Given the description of an element on the screen output the (x, y) to click on. 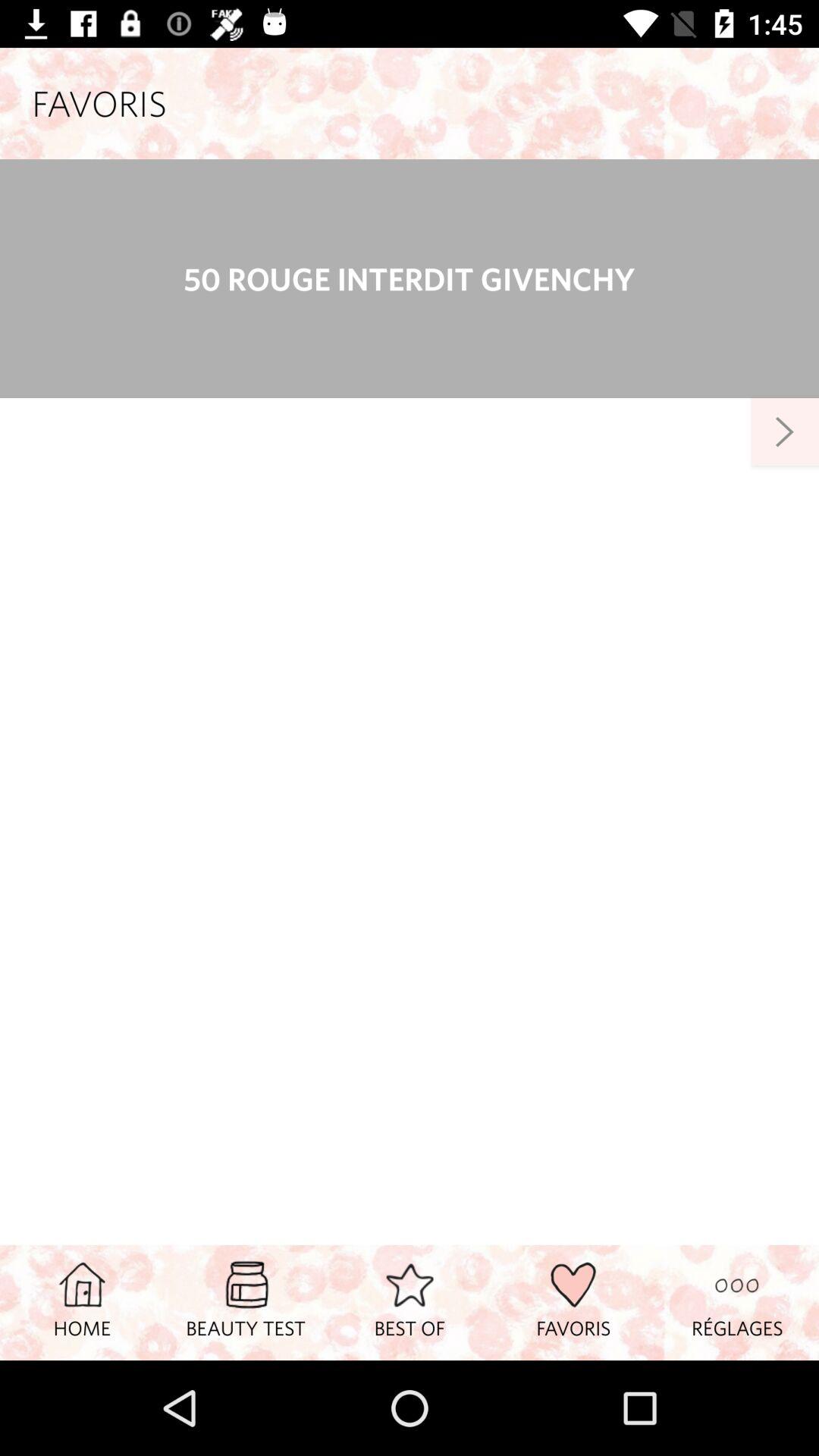
press item to the right of the favoris item (737, 1302)
